Given the description of an element on the screen output the (x, y) to click on. 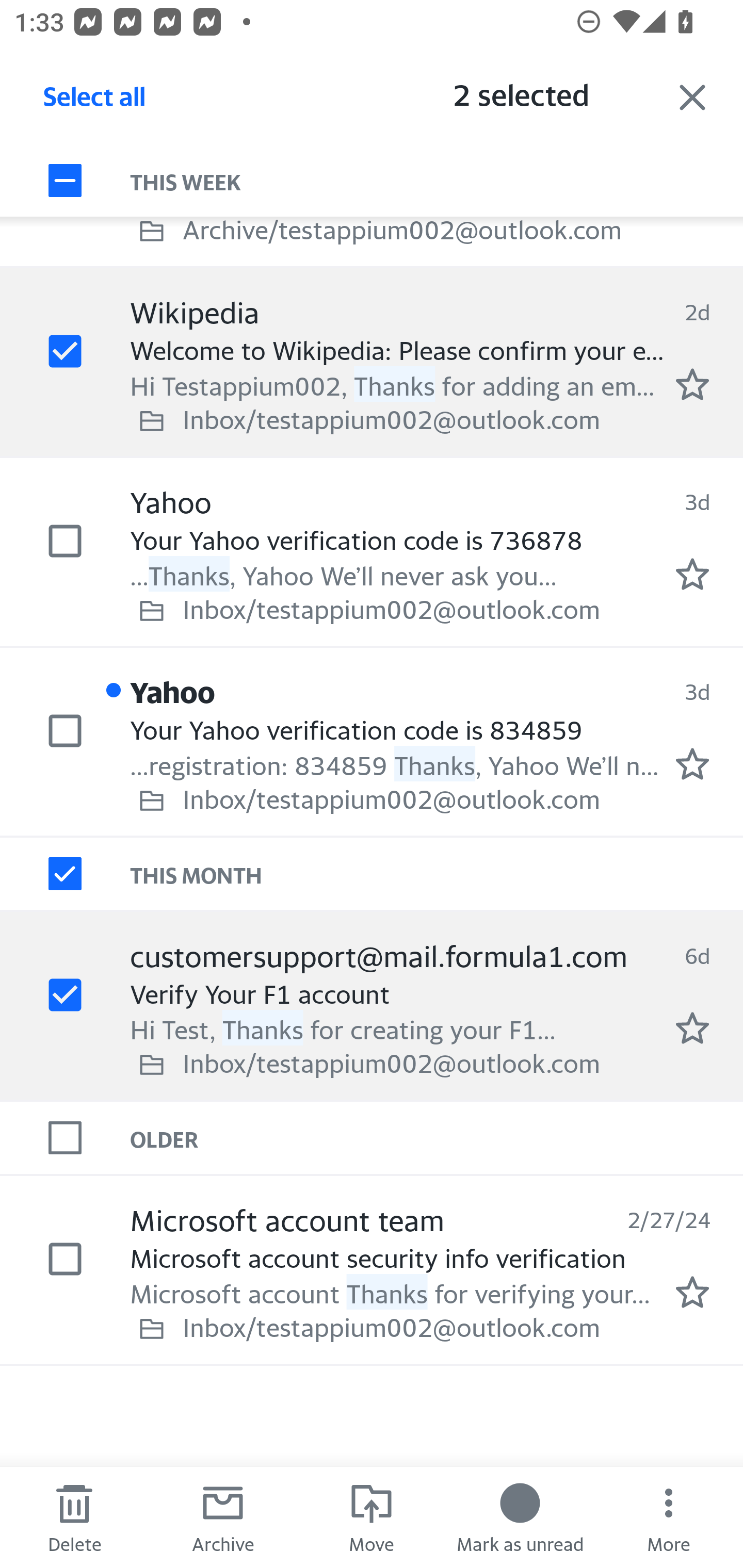
Exit selection mode (692, 97)
Select all (94, 101)
Mark as starred. (692, 384)
Mark as starred. (692, 574)
Mark as starred. (692, 764)
THIS MONTH (436, 873)
Mark as starred. (692, 1027)
OLDER (436, 1137)
Mark as starred. (692, 1291)
Delete (74, 1517)
Archive (222, 1517)
Move (371, 1517)
Mark as unread (519, 1517)
More (668, 1517)
